Given the description of an element on the screen output the (x, y) to click on. 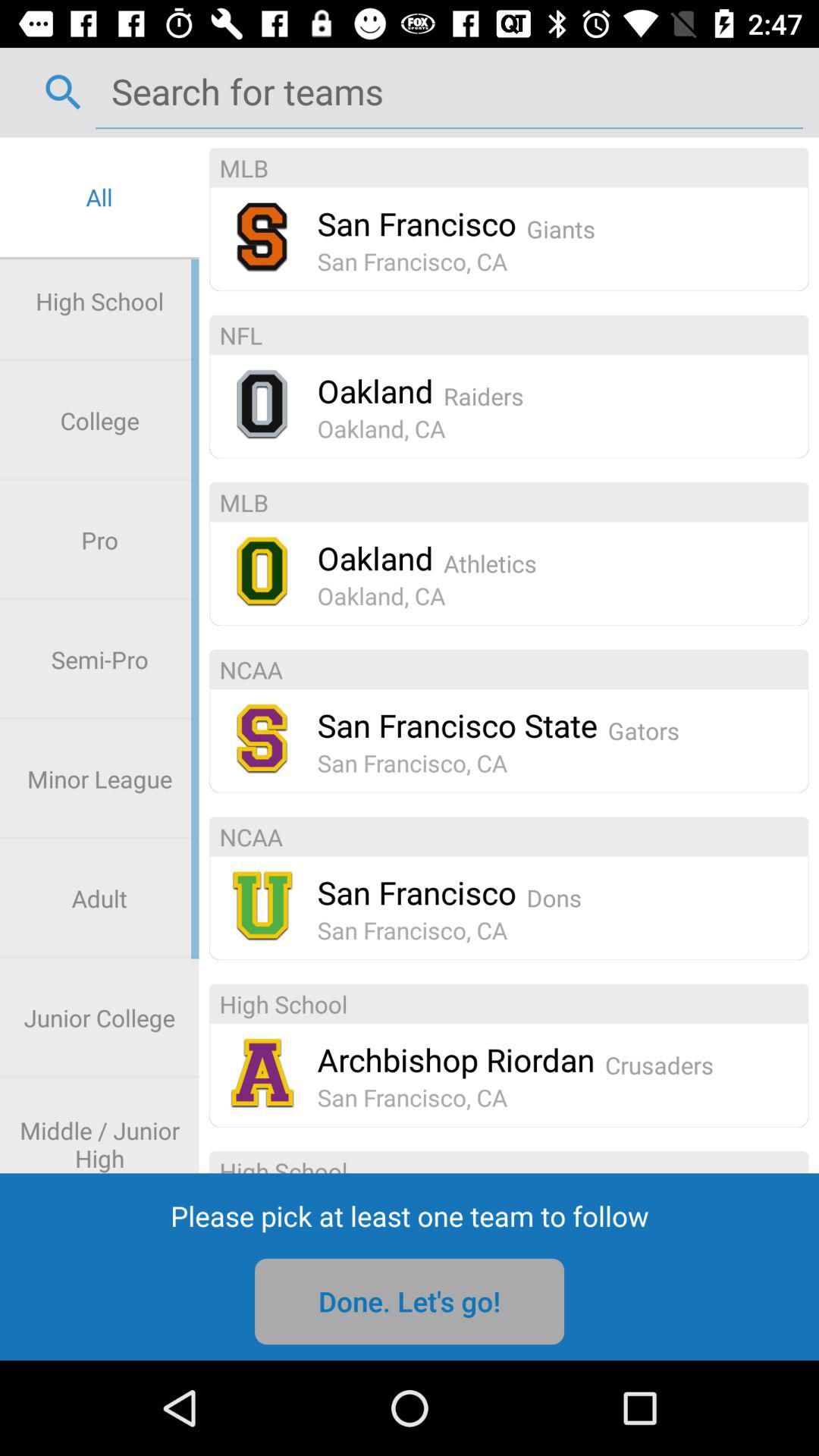
search text field enter keyword (449, 91)
